Given the description of an element on the screen output the (x, y) to click on. 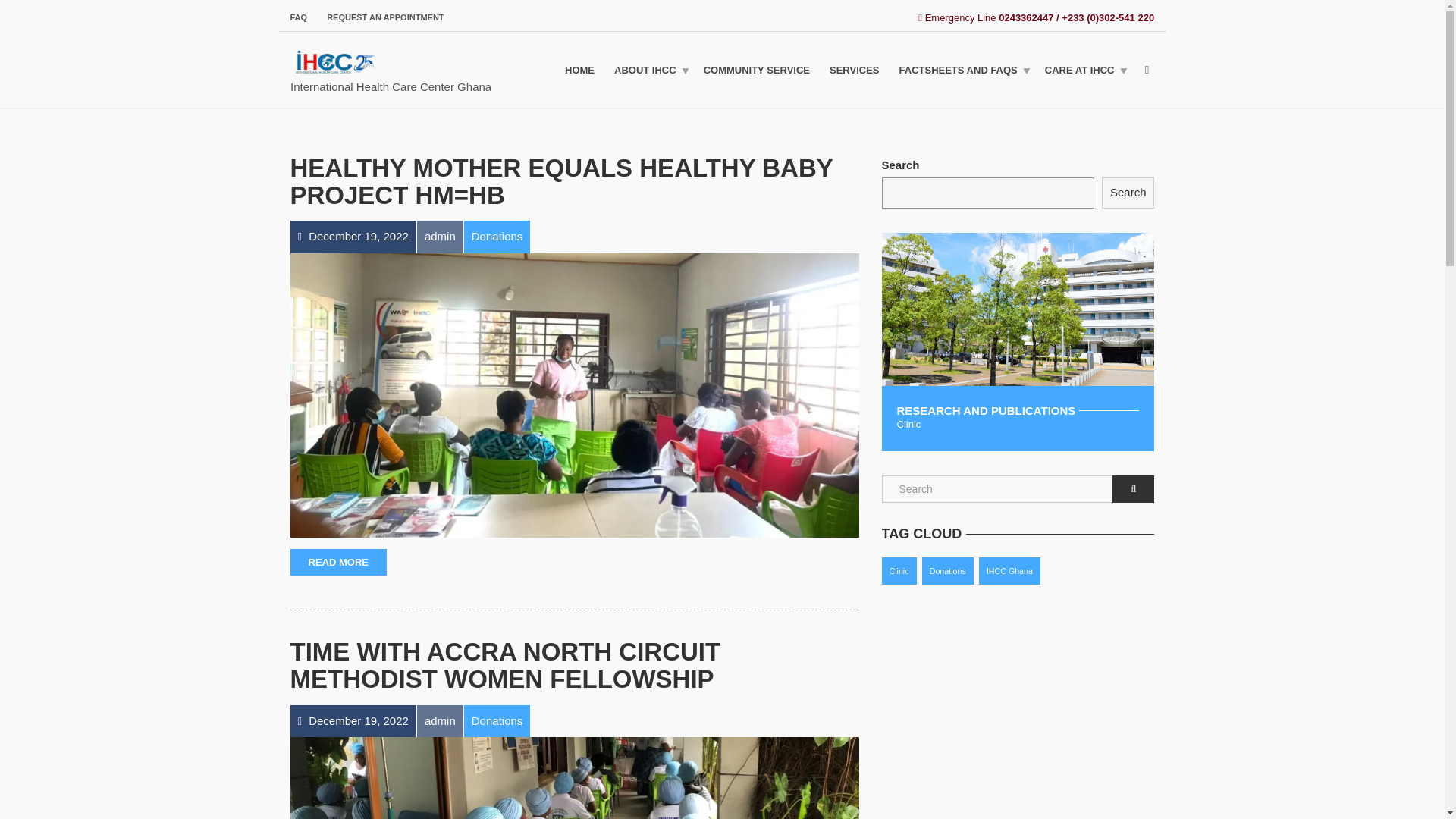
READ MORE (337, 562)
COMMUNITY SERVICE (756, 69)
TIME WITH ACCRA NORTH CIRCUIT METHODIST WOMEN FELLOWSHIP (504, 665)
REQUEST AN APPOINTMENT (380, 17)
FACTSHEETS AND FAQS (962, 69)
Factsheets and FAQs (962, 69)
HOME (579, 69)
FAQ (303, 17)
REQUEST AN APPOINTMENT (380, 17)
CARE AT IHCC (1083, 69)
About IHCC (649, 69)
Donations (497, 720)
Home (579, 69)
Community Service (756, 69)
Services (854, 69)
